Given the description of an element on the screen output the (x, y) to click on. 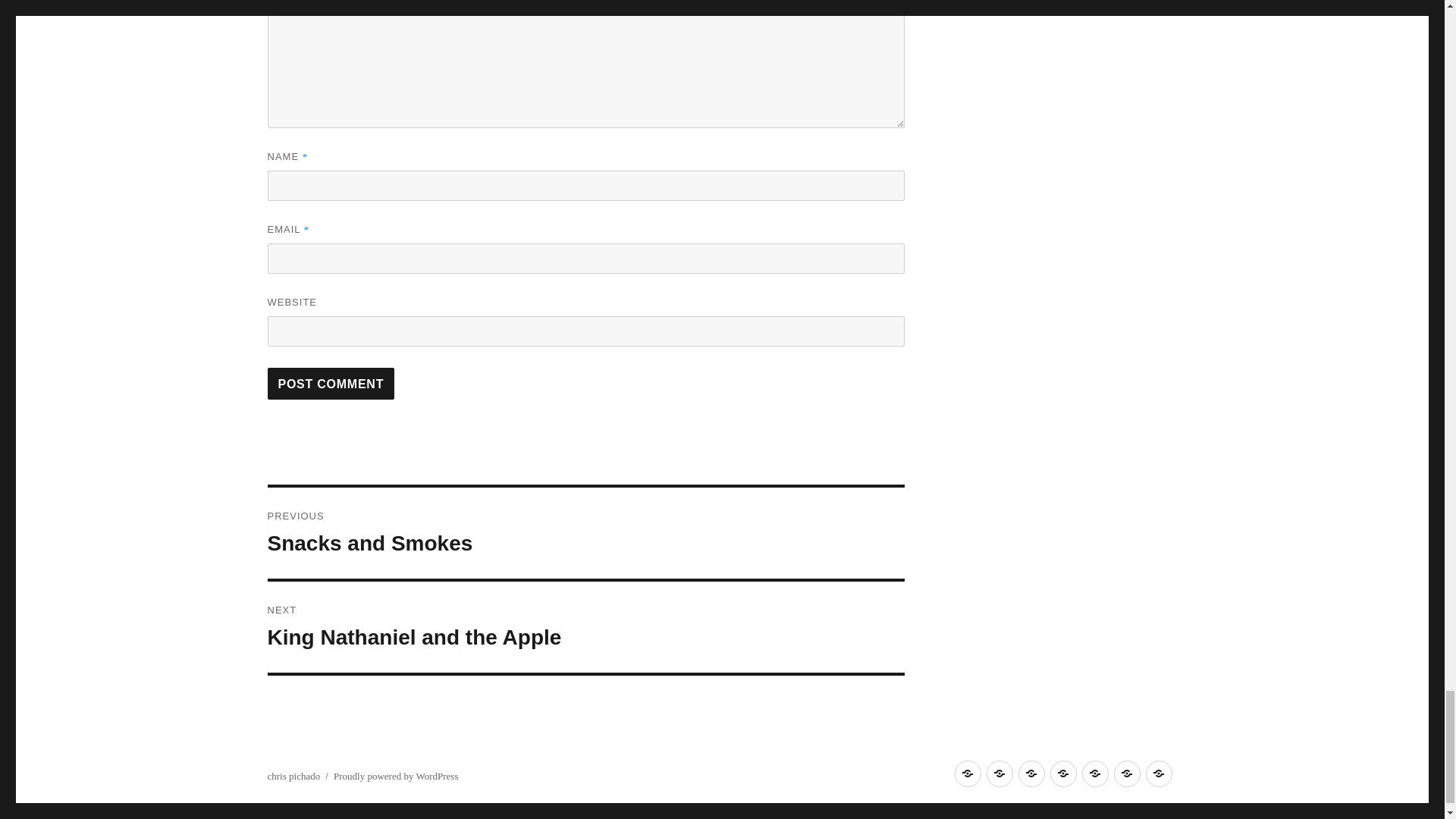
Post Comment (330, 383)
Post Comment (585, 532)
